Given the description of an element on the screen output the (x, y) to click on. 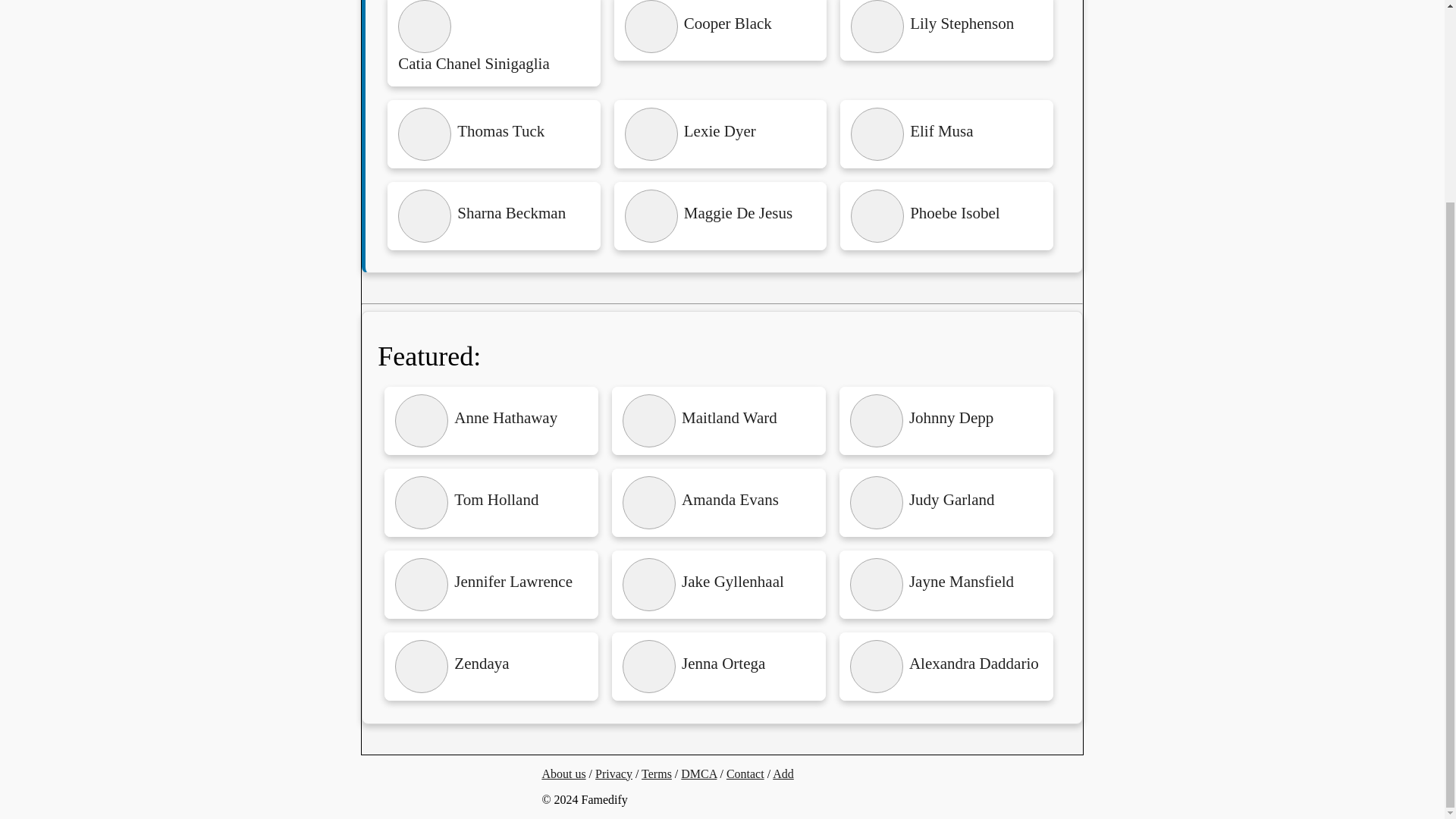
Jennifer Lawrence (491, 584)
Maggie De Jesus (720, 215)
Thomas Tuck (493, 133)
Elif Musa (946, 133)
Alexandra Daddario (946, 666)
Jenna Ortega (718, 666)
Anne Hathaway (491, 420)
Jayne Mansfield (946, 584)
Judy Garland (946, 502)
Lexie Dyer (720, 133)
